Given the description of an element on the screen output the (x, y) to click on. 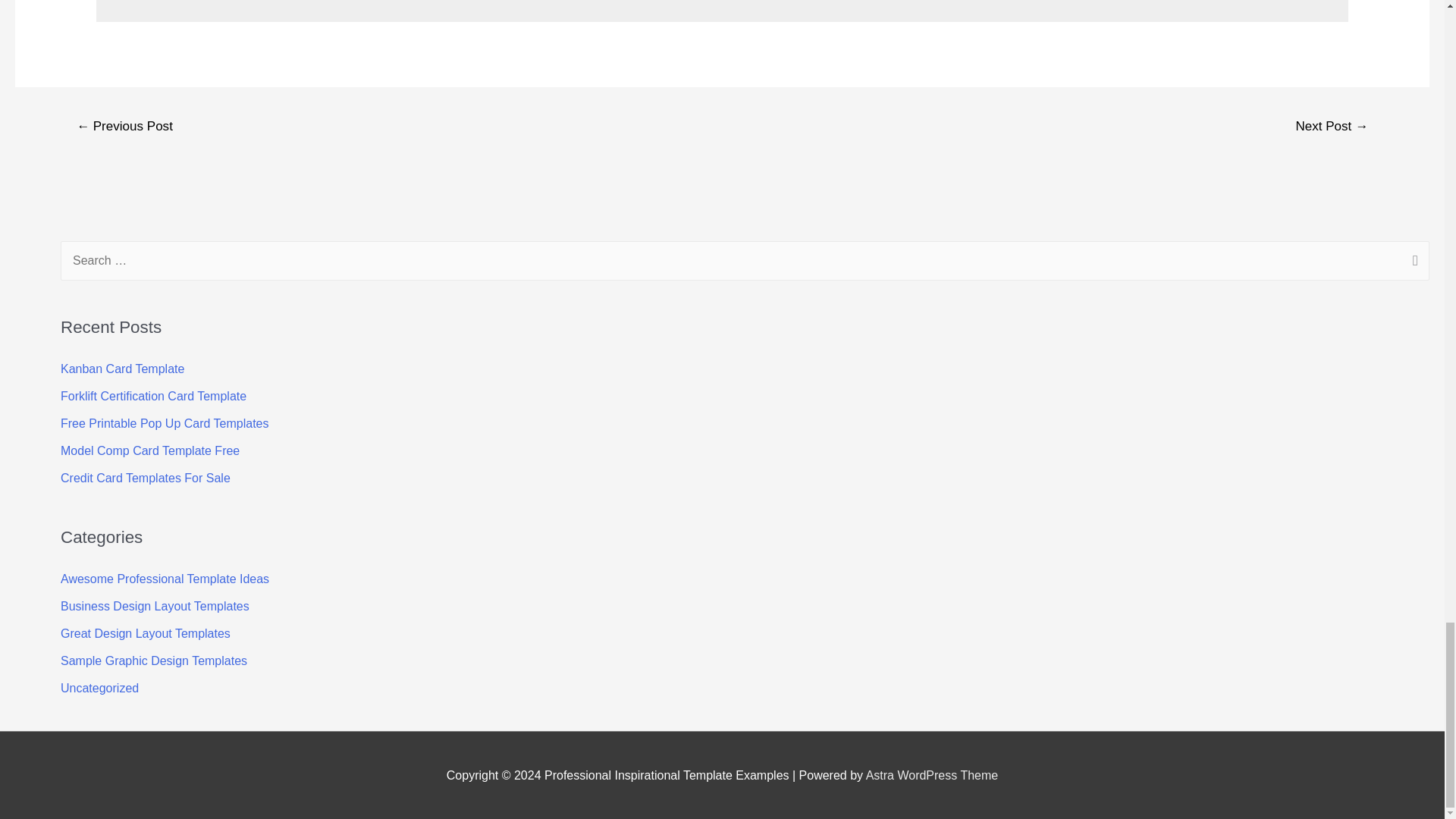
Kanban Card Template (122, 368)
Uncategorized (99, 687)
Credit Card Templates For Sale (145, 477)
Forklift Certification Card Template (153, 395)
Model Comp Card Template Free (150, 450)
Awesome Professional Template Ideas (165, 578)
Great Design Layout Templates (145, 633)
Astra WordPress Theme (932, 775)
Sample Graphic Design Templates (154, 660)
Free Printable Pop Up Card Templates (165, 422)
